Given the description of an element on the screen output the (x, y) to click on. 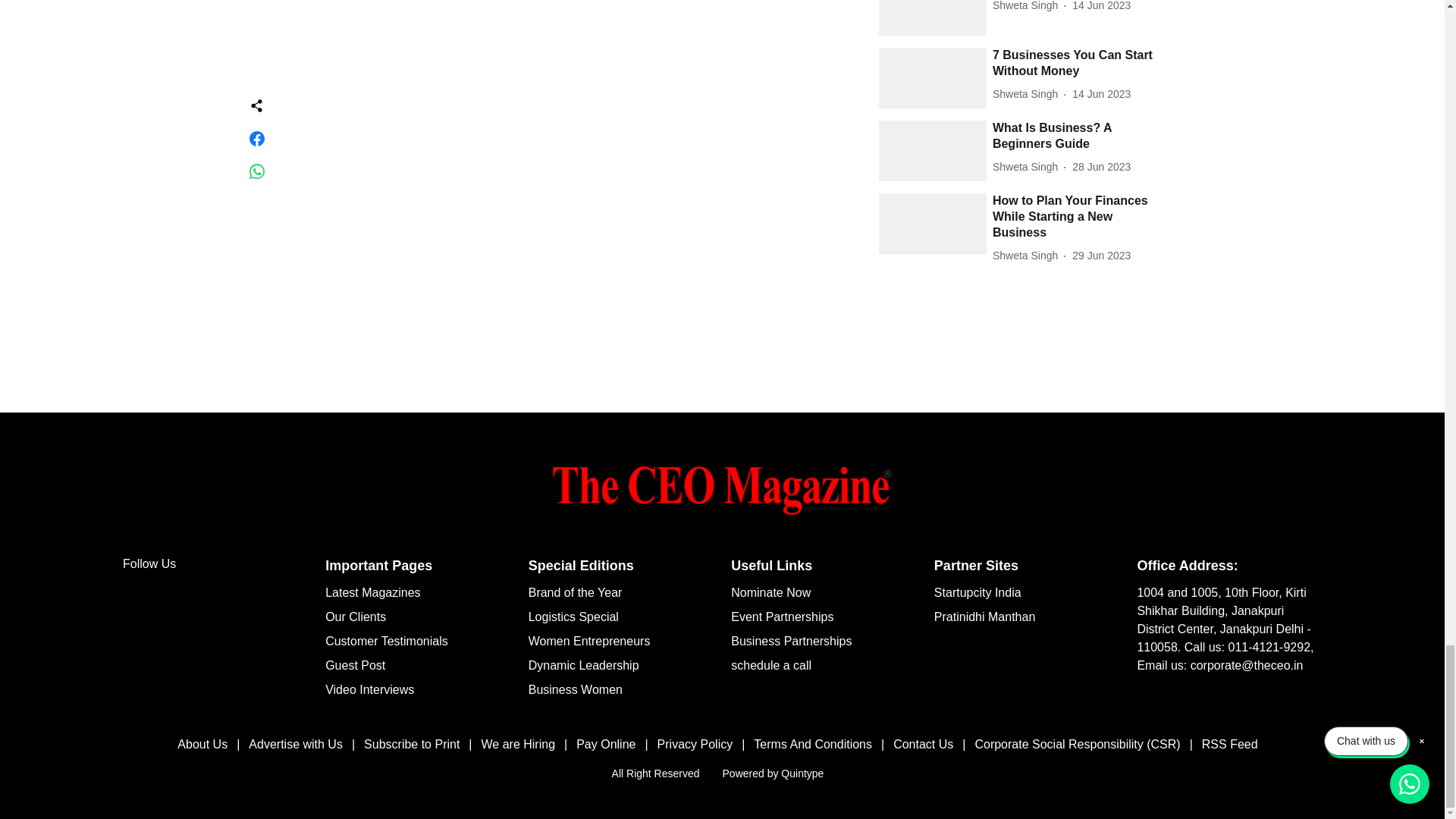
2023-06-29 12:34 (1101, 255)
2023-06-14 05:43 (1101, 94)
2023-06-28 04:46 (1101, 166)
2023-06-14 05:42 (1101, 6)
